Given the description of an element on the screen output the (x, y) to click on. 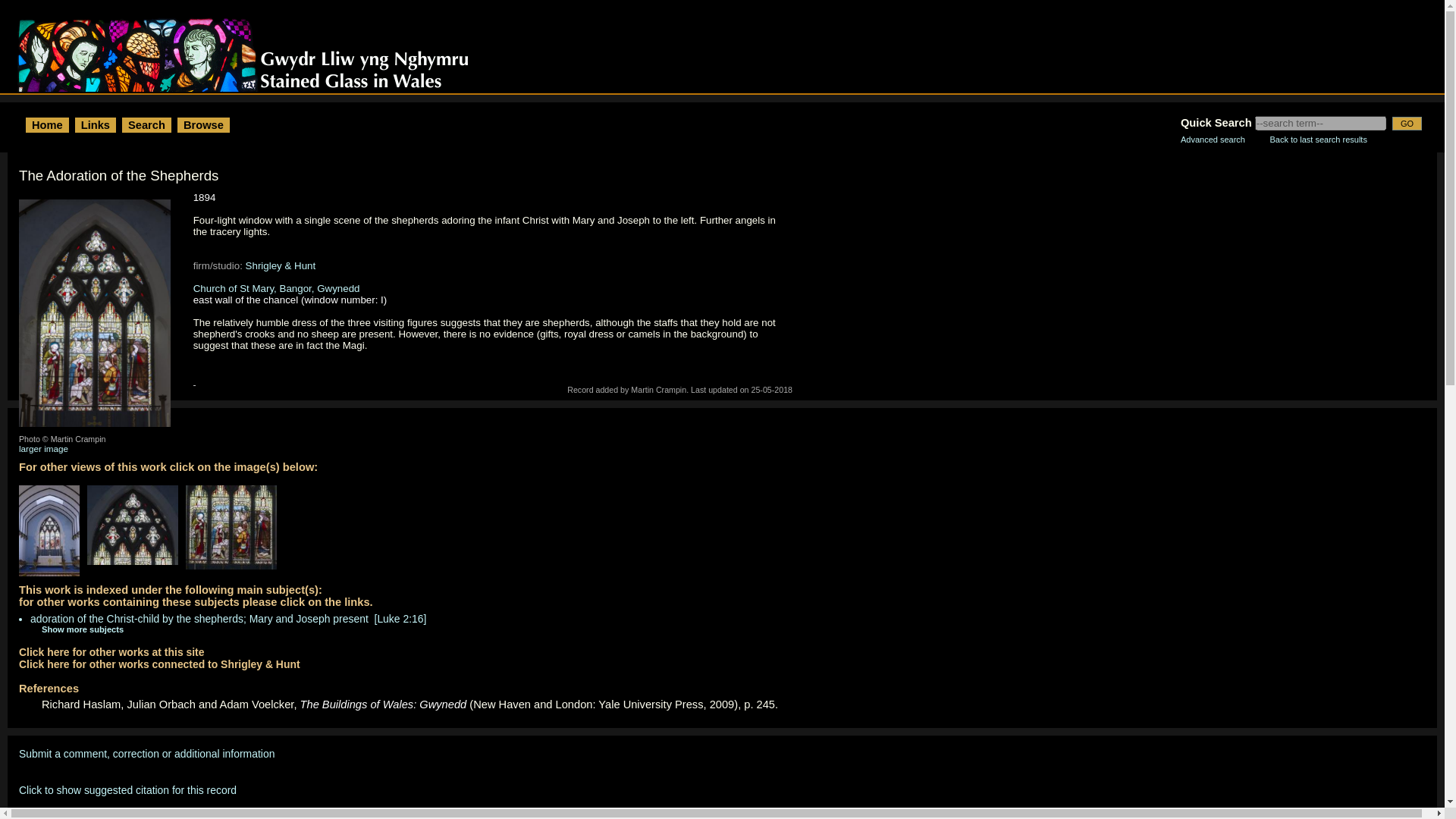
Advanced search (1212, 139)
Tracery Lights: The Adoration of the Shepherds (136, 528)
Back to last search results (1318, 139)
Click to show suggested citation for this record (126, 789)
Submit a comment, correction or additional information (146, 753)
Browse (203, 124)
The Adoration of the Shepherds (234, 531)
Church of St Mary, Bangor, Gwynedd (276, 288)
Home (47, 124)
Show more subjects (70, 628)
Luke 2:16 (400, 618)
The Buildings of Wales: Gwynedd (383, 704)
Click here for other works at this site (110, 652)
larger image (43, 448)
